Given the description of an element on the screen output the (x, y) to click on. 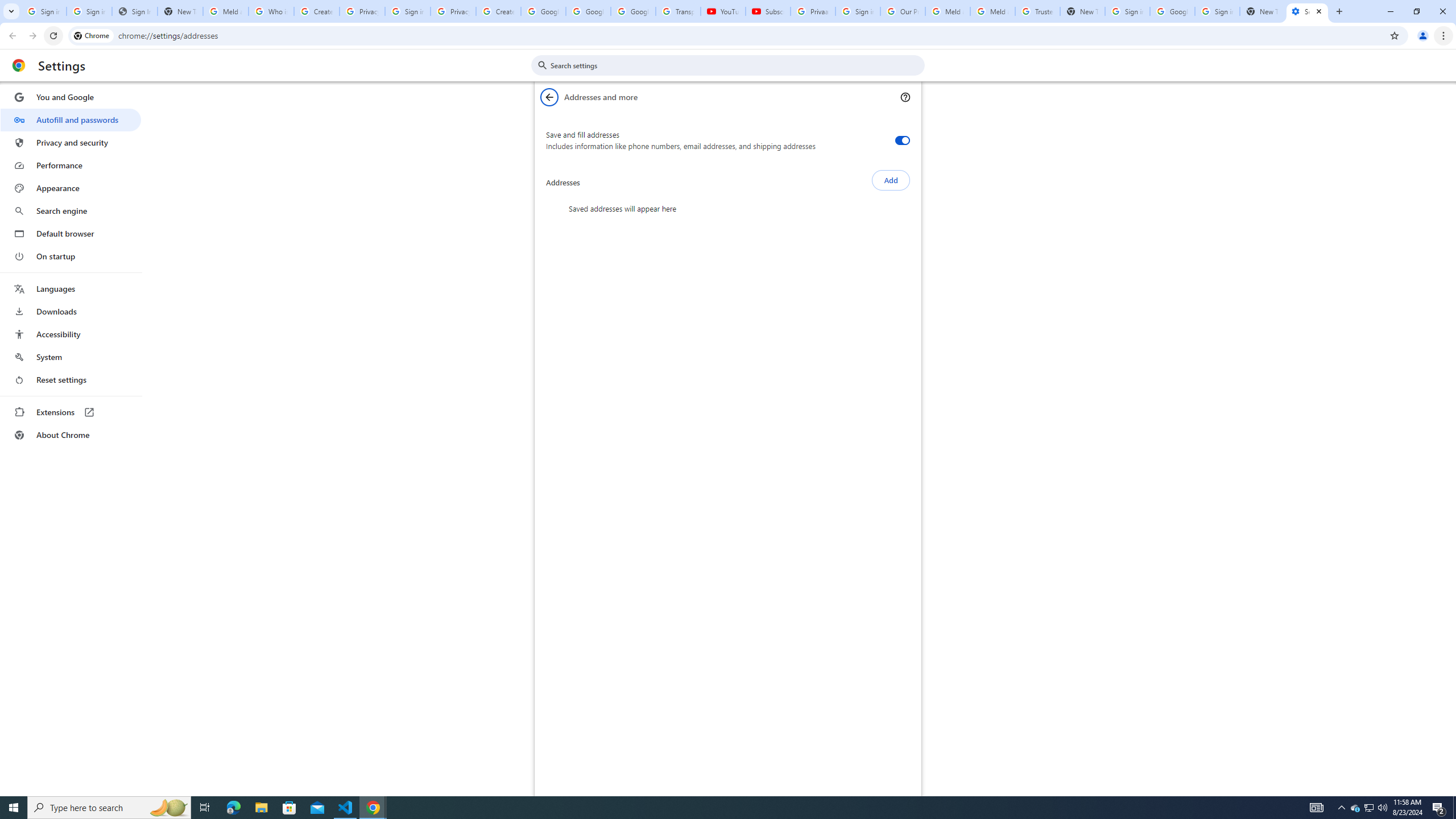
You and Google (70, 96)
Search engine (70, 210)
Sign in - Google Accounts (43, 11)
Sign in - Google Accounts (1126, 11)
Reset settings (70, 379)
